Given the description of an element on the screen output the (x, y) to click on. 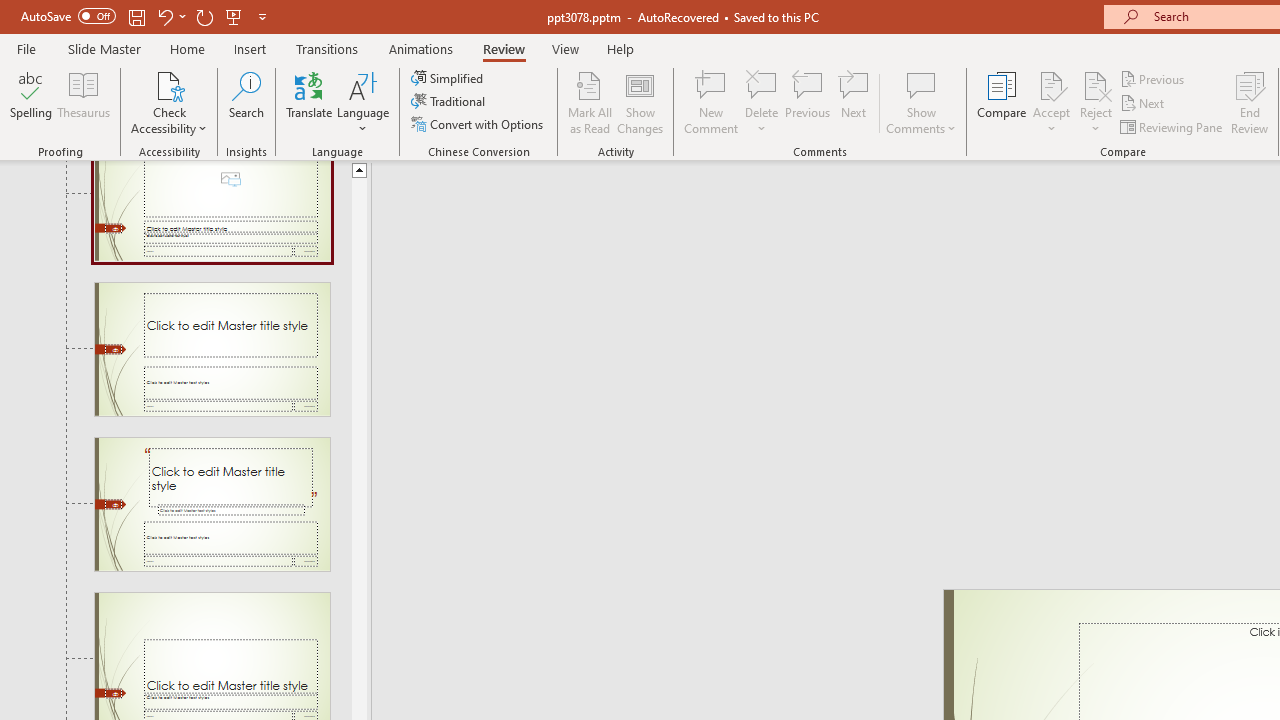
Traditional (449, 101)
Check Accessibility (169, 102)
Show Changes (639, 102)
Thesaurus... (83, 102)
Convert with Options... (479, 124)
Simplified (449, 78)
Reviewing Pane (1172, 126)
Delete (762, 102)
Compare (1002, 102)
